Given the description of an element on the screen output the (x, y) to click on. 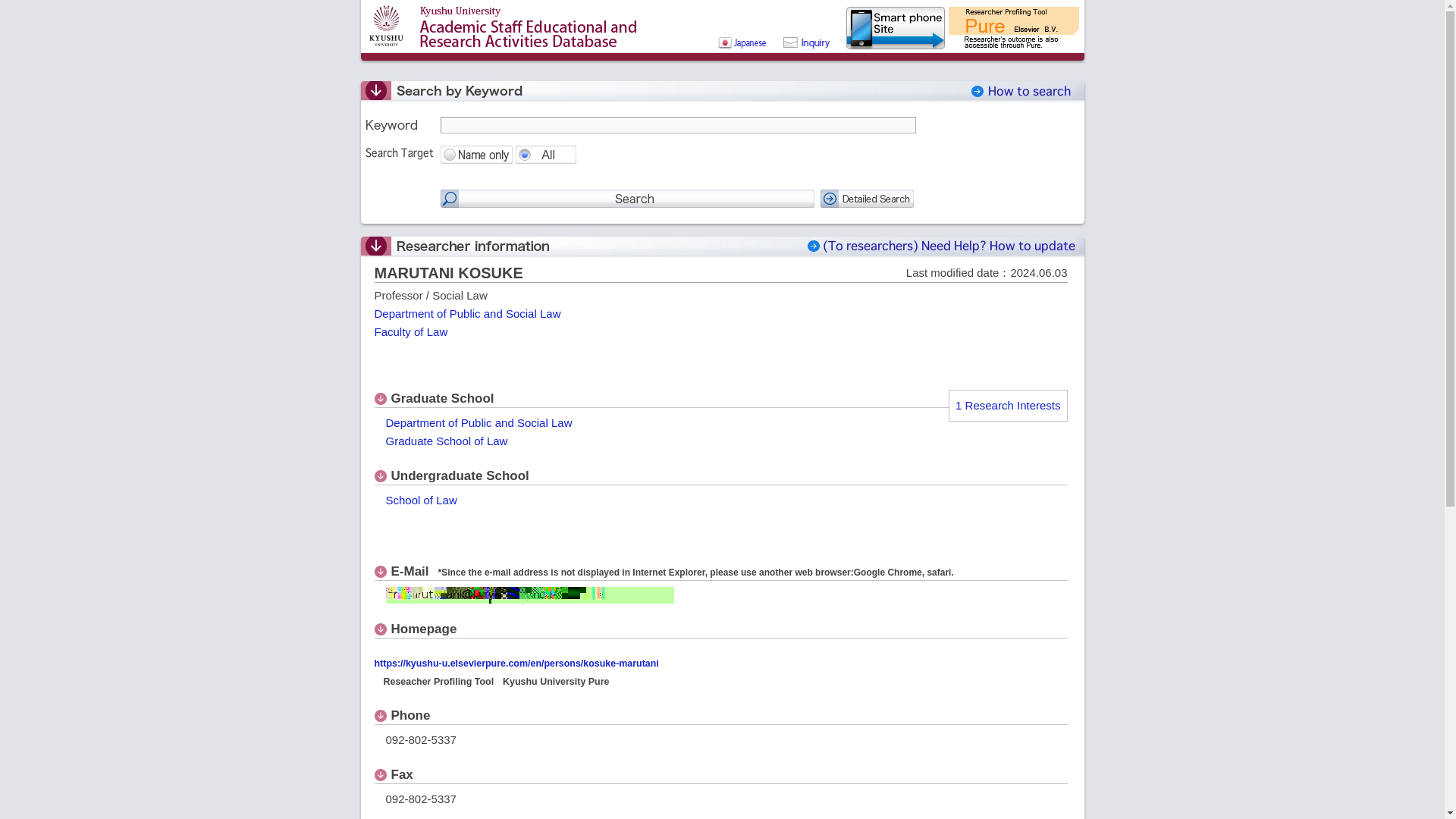
Detailed Search (867, 198)
School of Law (421, 499)
Japanese (727, 48)
Department of Public and Social Law (467, 313)
Graduate School of Law (445, 440)
Inquiry (805, 48)
Smart Phone Site (894, 48)
Faculty of Law (411, 331)
Department of Public and Social Law (478, 422)
1 Research Interests (1007, 404)
